Given the description of an element on the screen output the (x, y) to click on. 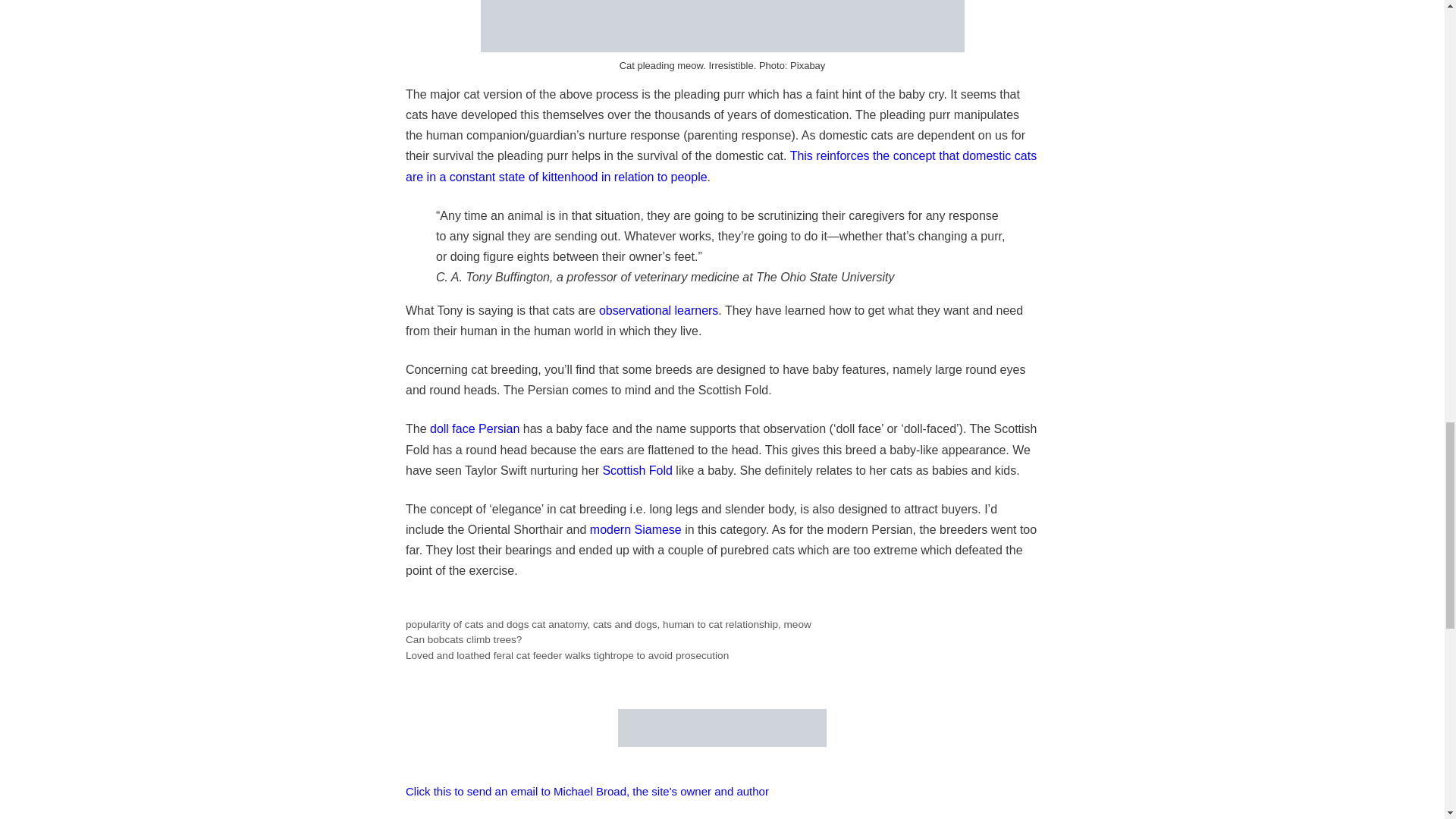
observational learners (657, 309)
cat anatomy (558, 624)
modern Siamese (635, 529)
doll face Persian (474, 428)
Scottish Fold (636, 470)
meow (797, 624)
cats and dogs (625, 624)
human to cat relationship (719, 624)
popularity of cats and dogs (467, 624)
